Given the description of an element on the screen output the (x, y) to click on. 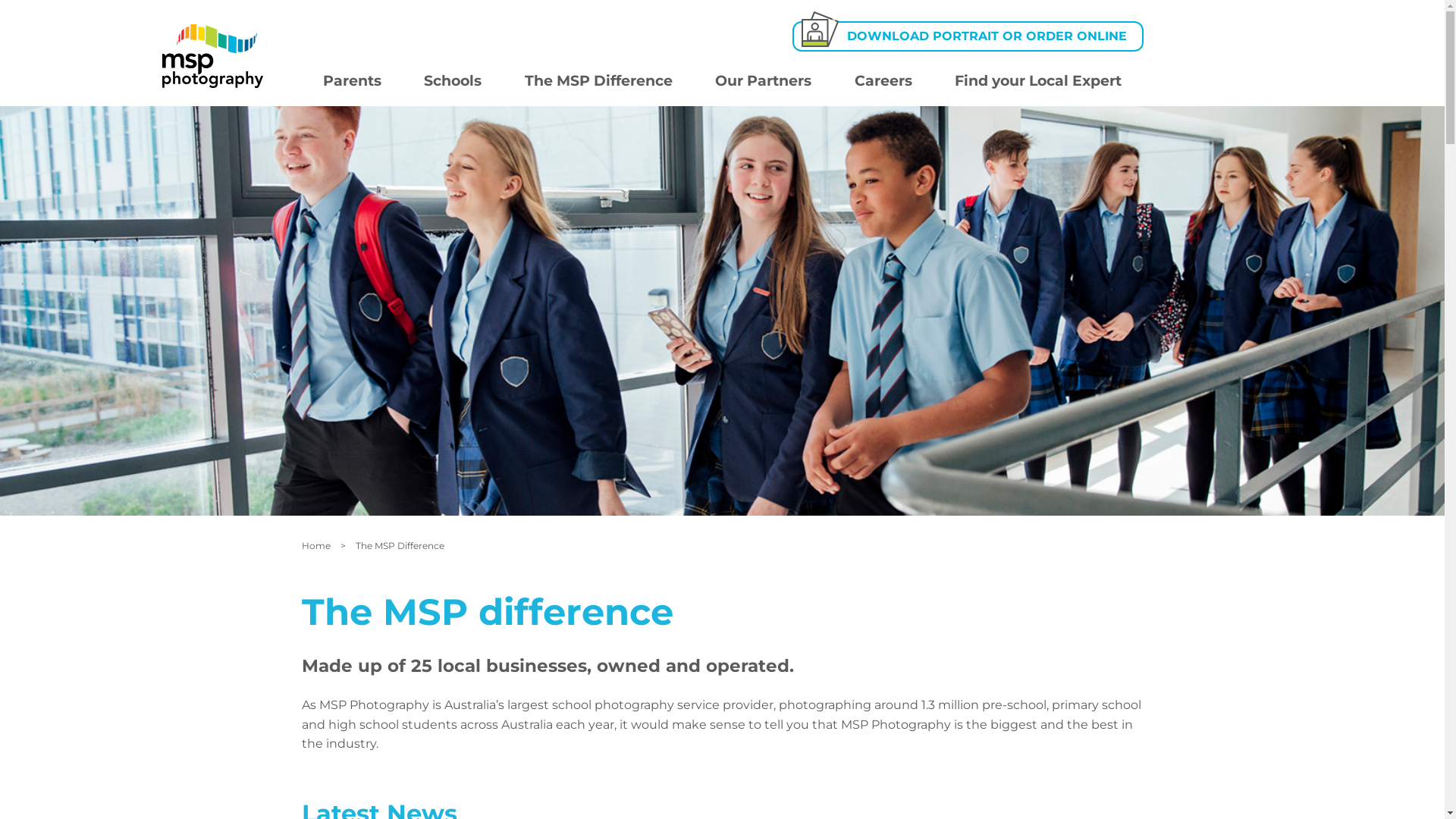
DOWNLOAD PORTRAIT OR ORDER ONLINE Element type: text (966, 36)
Schools Element type: text (452, 81)
Our Partners Element type: text (763, 81)
Parents Element type: text (352, 81)
Home Element type: text (315, 545)
Careers Element type: text (882, 81)
Find your Local Expert Element type: text (1038, 81)
The MSP Difference Element type: text (598, 81)
